Given the description of an element on the screen output the (x, y) to click on. 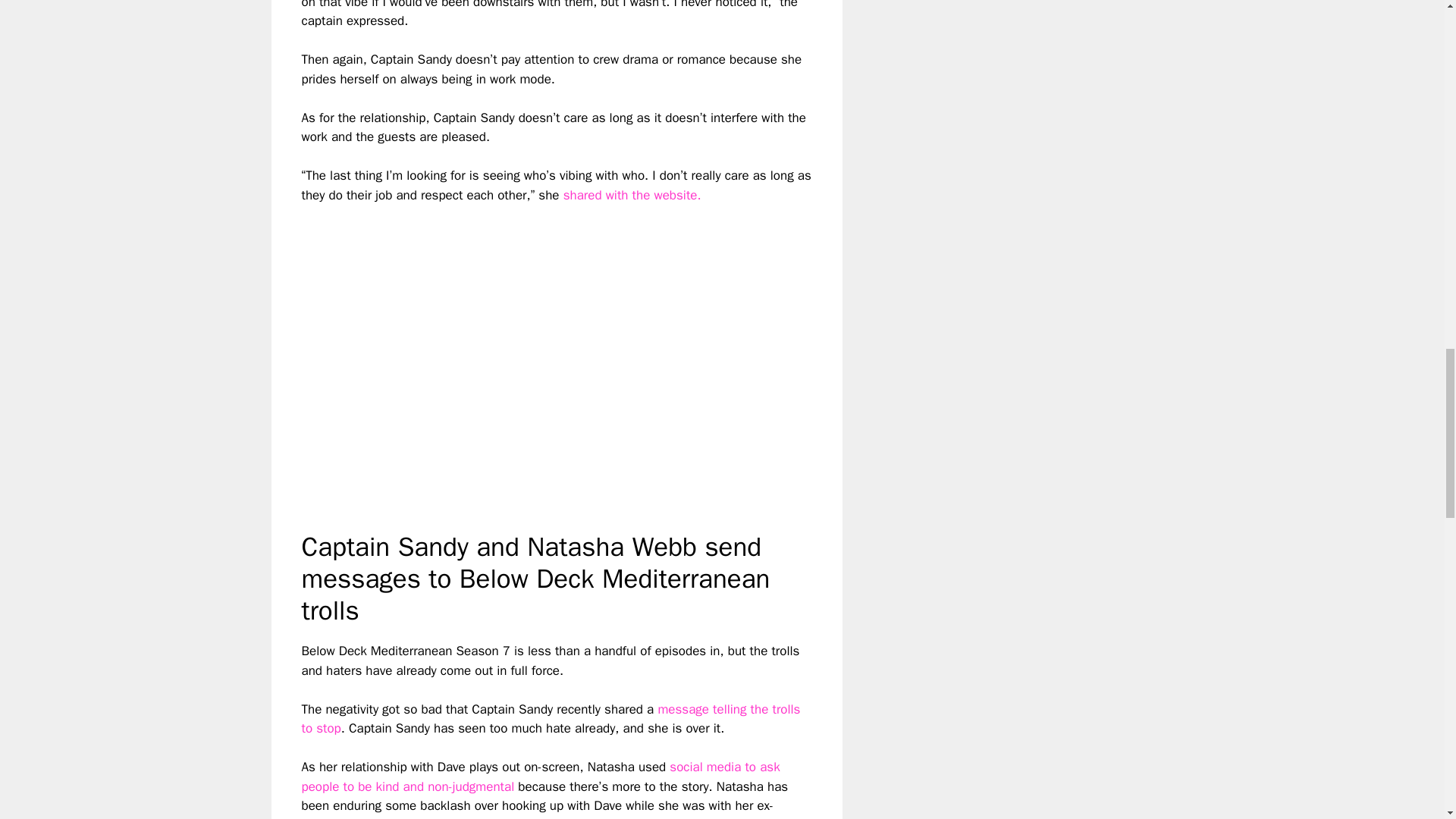
social media to ask people to be kind and non-judgmental (540, 776)
shared with the website. (632, 195)
message telling the trolls to stop (550, 719)
